Given the description of an element on the screen output the (x, y) to click on. 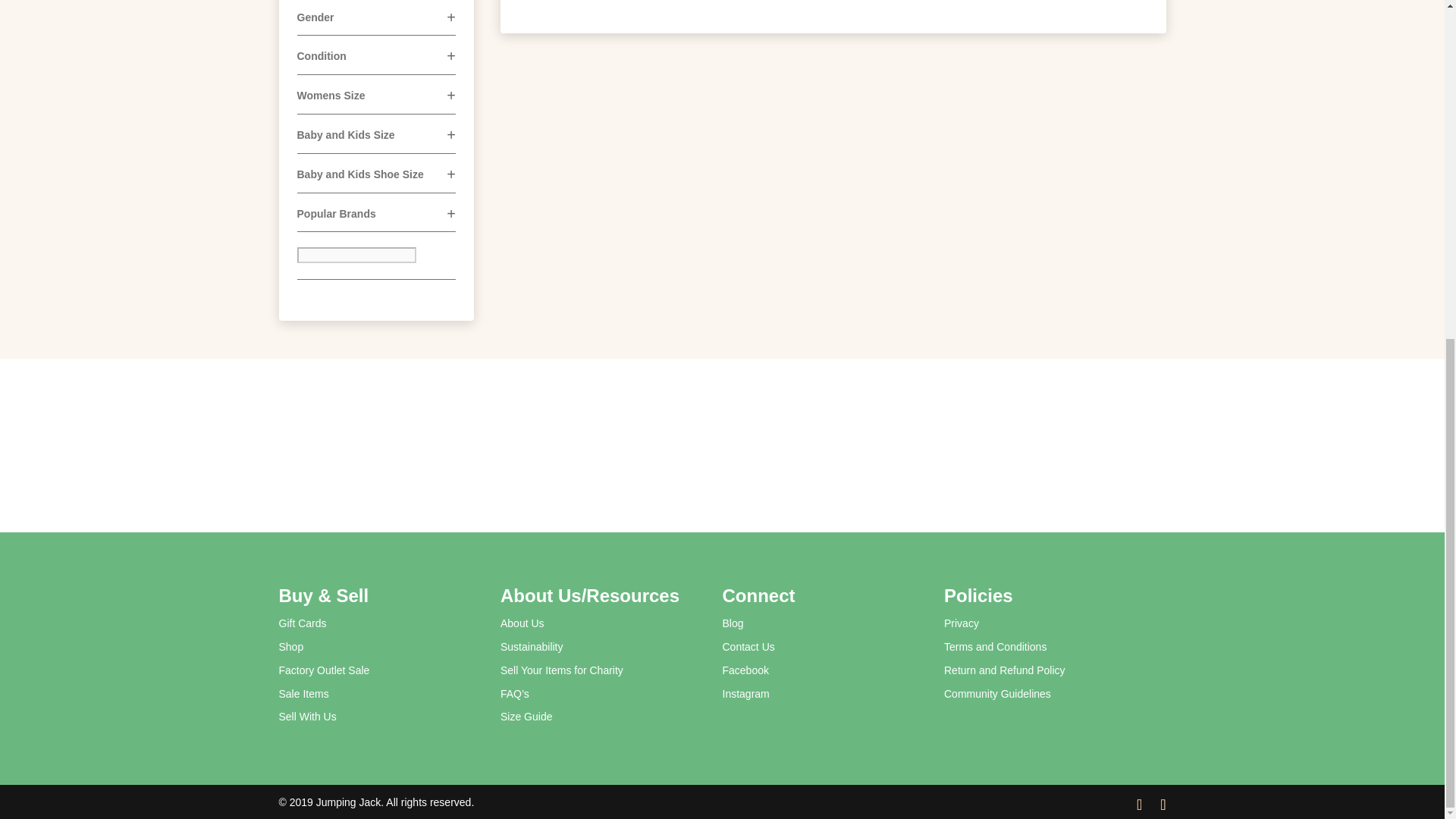
Shop (291, 646)
Sale Items (304, 693)
Sell Your Items for Charity (561, 670)
Size Guide (525, 716)
About Us (522, 623)
Factory Outlet Sale (324, 670)
Facebook (745, 670)
Blog (732, 623)
Sustainability (531, 646)
Instagram (745, 693)
